Given the description of an element on the screen output the (x, y) to click on. 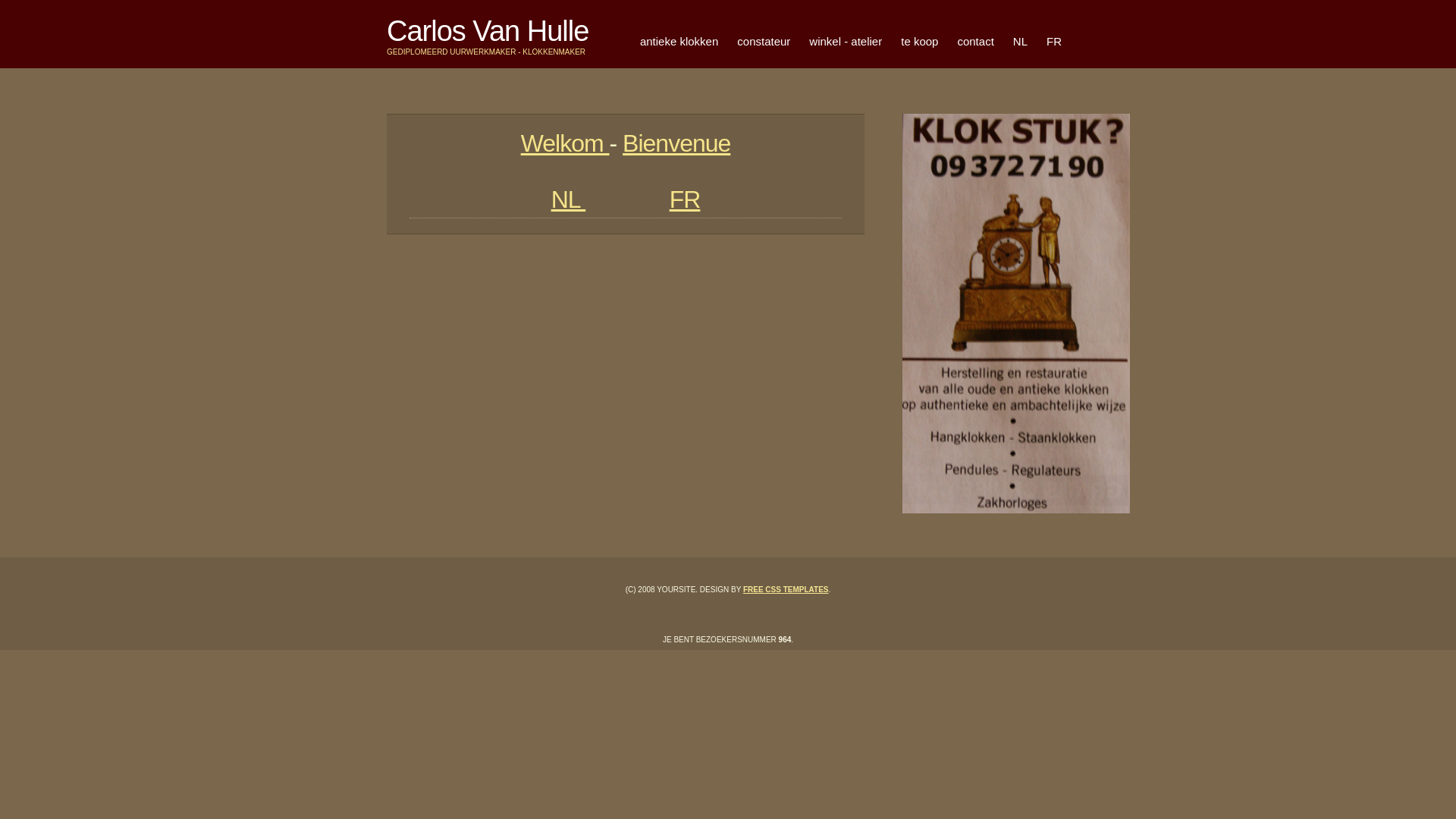
Bienvenue Element type: text (676, 142)
FR Element type: text (684, 199)
klok stuk? Element type: hover (1015, 313)
FREE CSS TEMPLATES Element type: text (785, 589)
constateur Element type: text (763, 41)
contact Element type: text (975, 41)
Carlos Van Hulle Element type: text (487, 31)
winkel - atelier Element type: text (845, 41)
NL Element type: text (568, 199)
NL Element type: text (1020, 41)
te koop Element type: text (919, 41)
antieke klokken Element type: text (678, 41)
Welkom Element type: text (564, 142)
FR Element type: text (1053, 41)
